Given the description of an element on the screen output the (x, y) to click on. 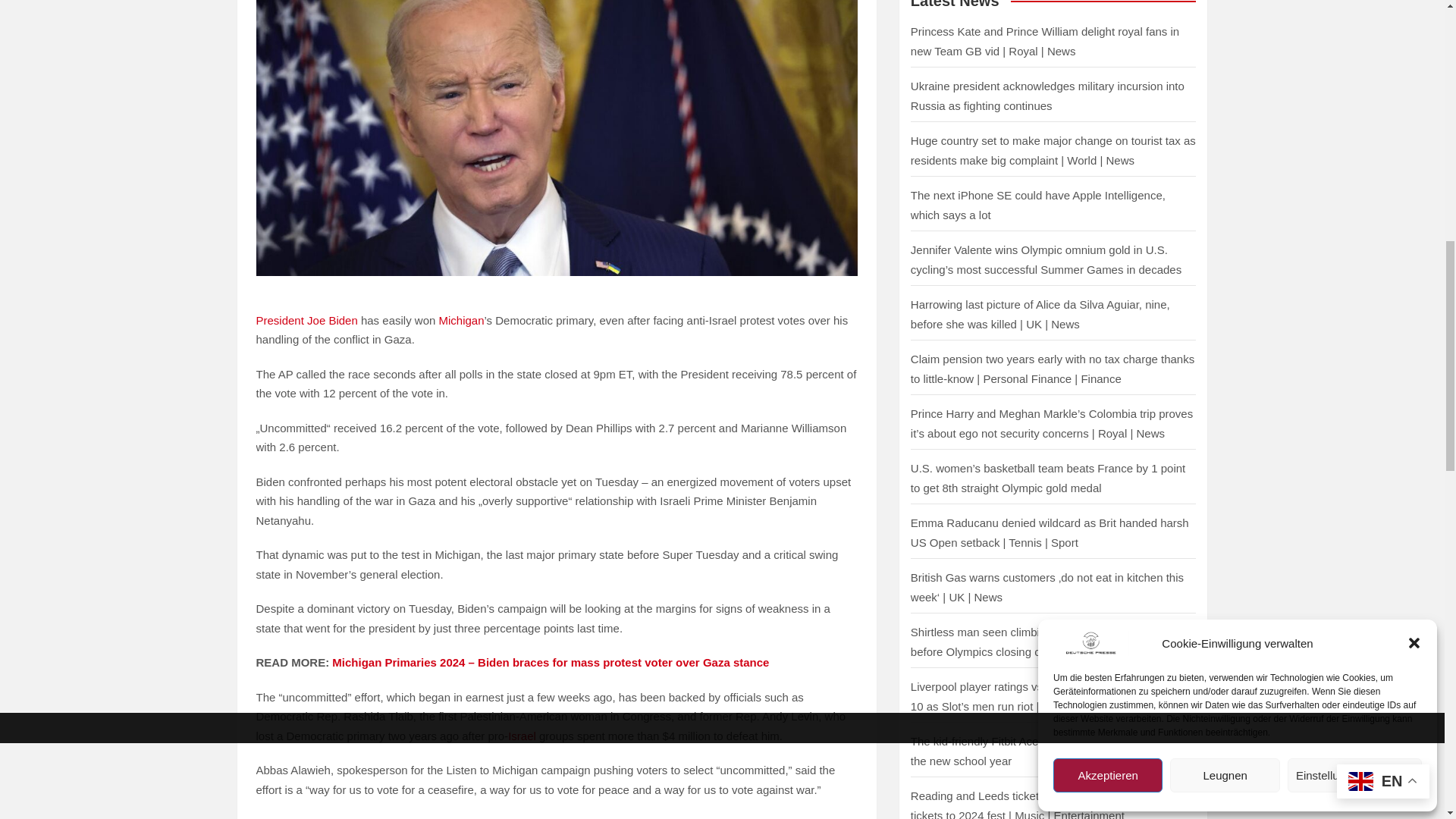
Israel (521, 735)
President Joe Biden (307, 319)
Michigan (460, 319)
